Given the description of an element on the screen output the (x, y) to click on. 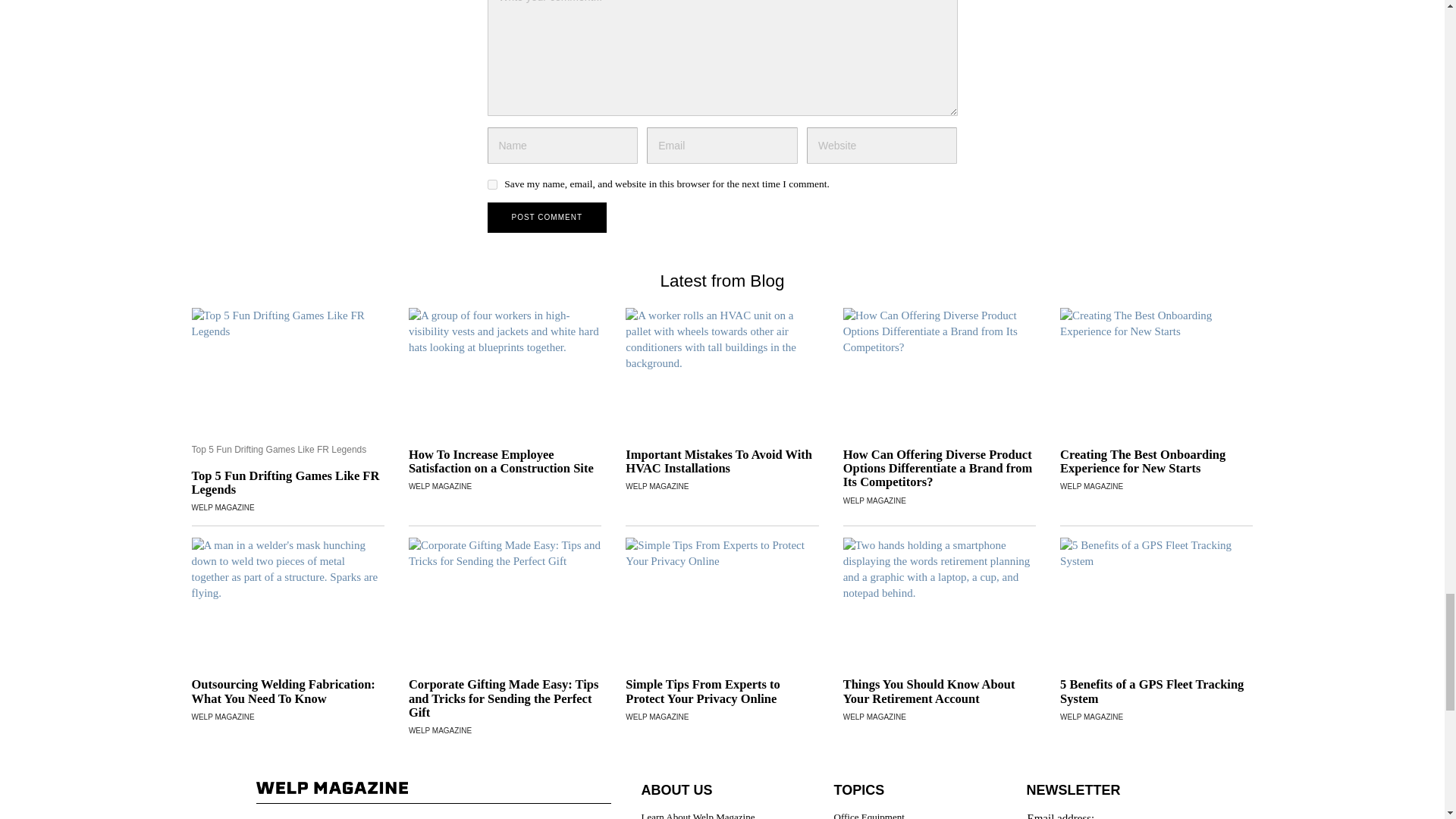
Post Comment (545, 217)
yes (491, 184)
